Given the description of an element on the screen output the (x, y) to click on. 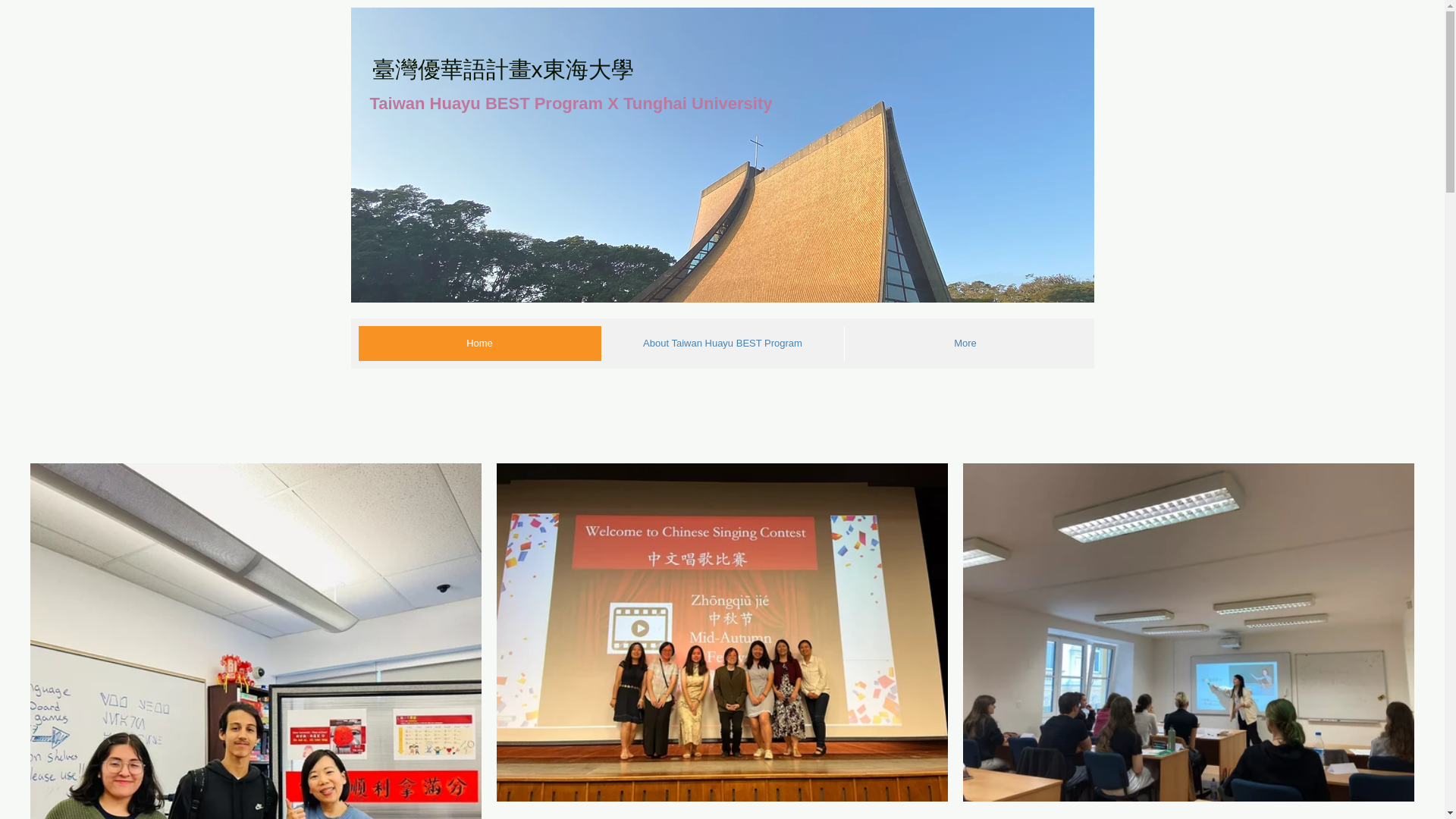
Home (478, 343)
About Taiwan Huayu BEST Program (721, 343)
